Given the description of an element on the screen output the (x, y) to click on. 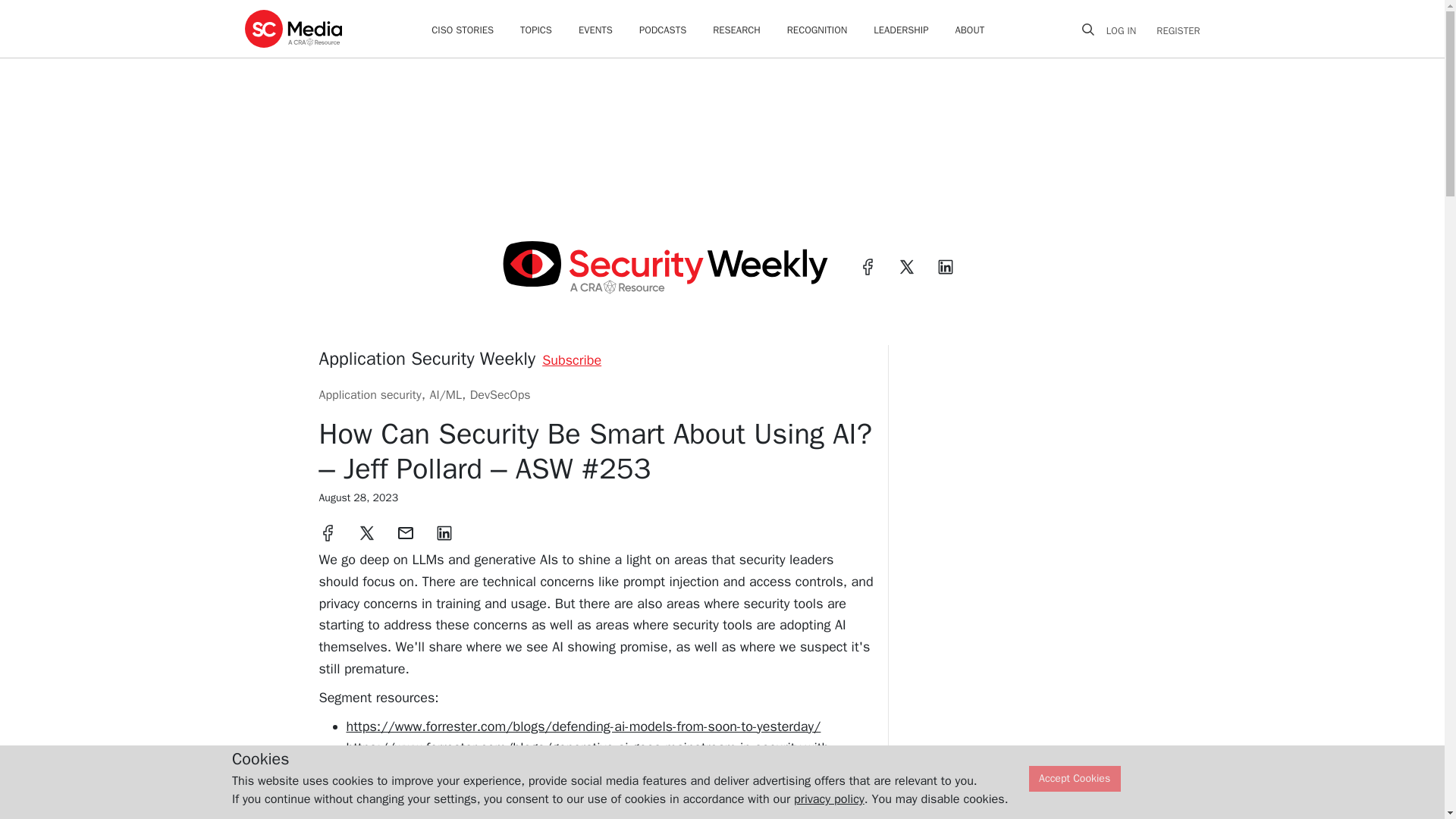
CISO STORIES (461, 30)
Application security (369, 394)
PODCASTS (662, 30)
ABOUT (970, 30)
Share on Facebook (327, 533)
SC Media (292, 27)
Subscribe (571, 360)
Share via email (404, 533)
RECOGNITION (817, 30)
Application Security Weekly (426, 358)
